Given the description of an element on the screen output the (x, y) to click on. 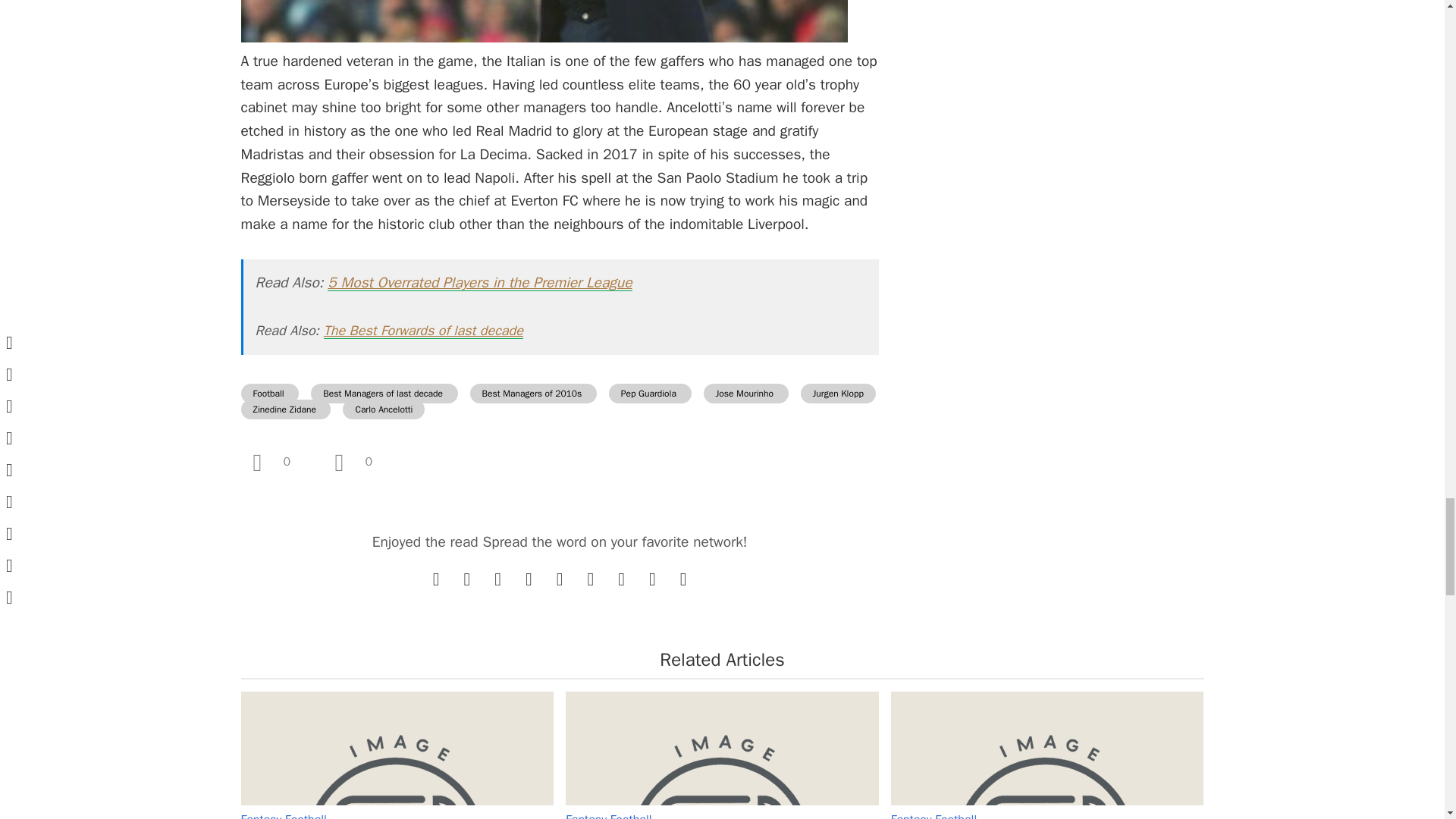
The Best Forwards of last decade (422, 330)
Football (270, 393)
Best Managers of last decade (384, 393)
5 Most Overrated Players in the Premier League (479, 282)
Pep Guardiola (649, 393)
Best Managers of 2010s (533, 393)
